Given the description of an element on the screen output the (x, y) to click on. 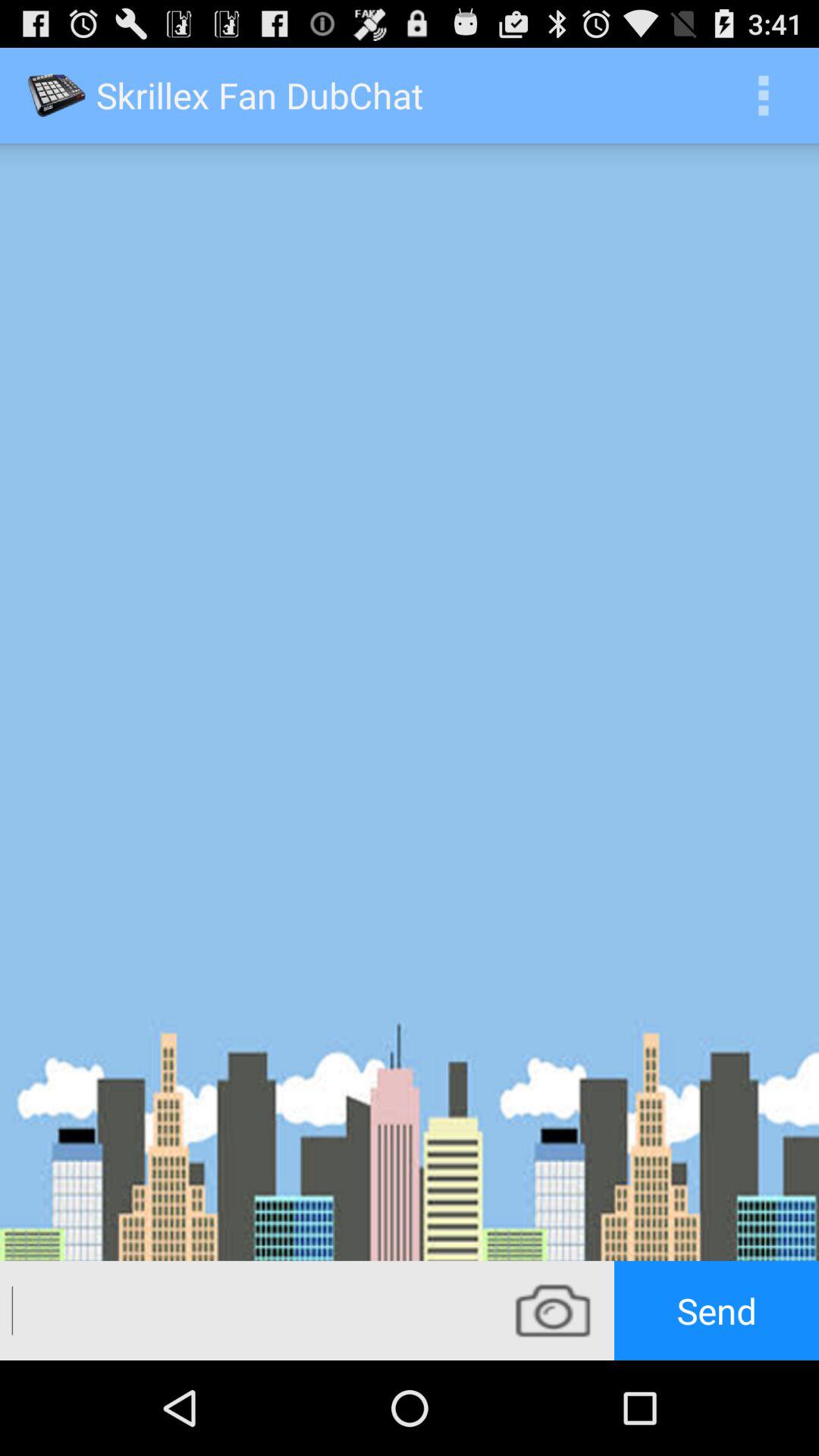
take photo (552, 1310)
